Given the description of an element on the screen output the (x, y) to click on. 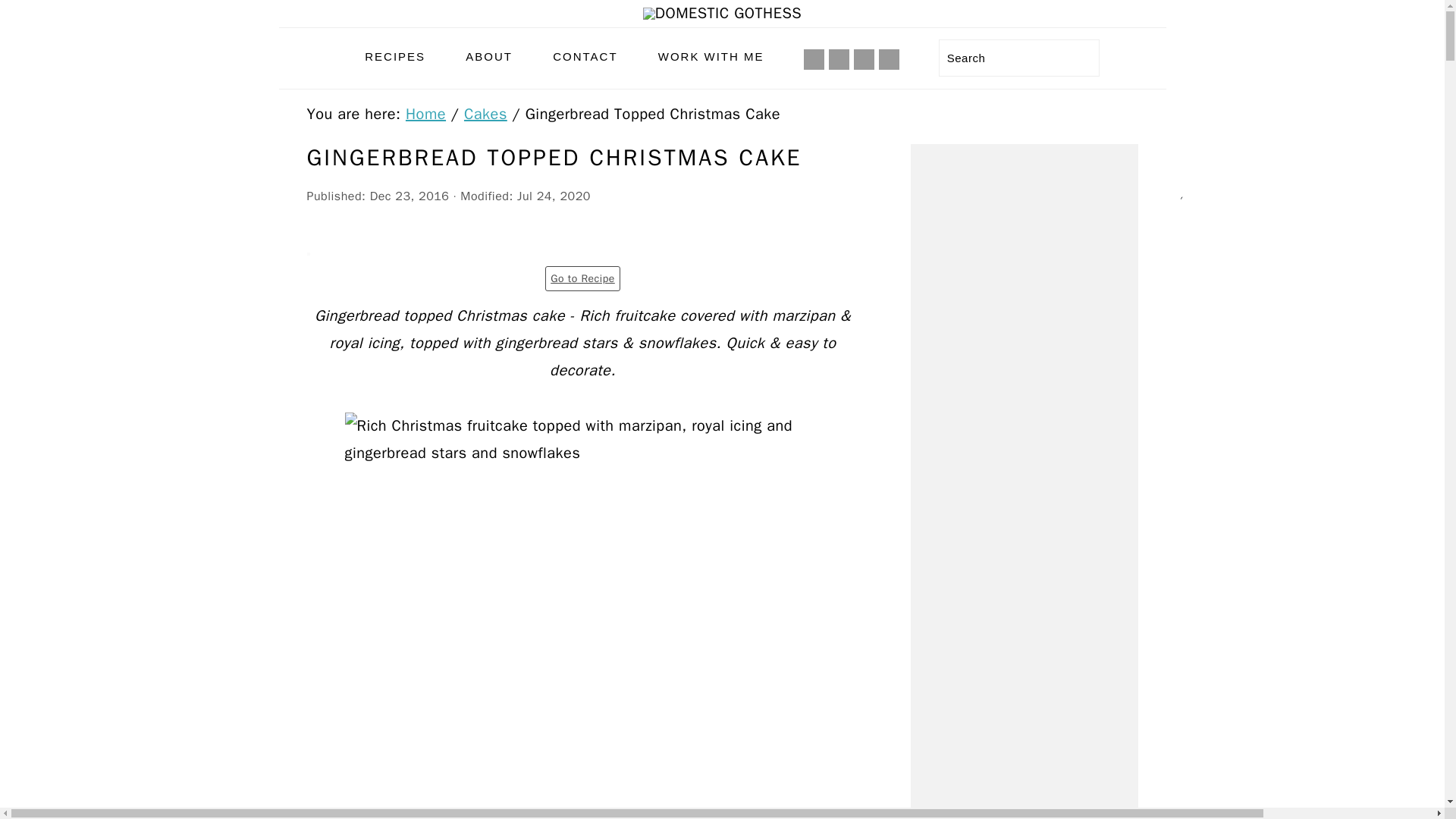
Facebook (814, 59)
Cakes (485, 113)
Twitter (888, 59)
Domestic Gothess (722, 13)
Facebook (813, 59)
Home (425, 113)
Go to Recipe (582, 278)
Go to Recipe (582, 278)
RECIPES (395, 56)
Pinterest (864, 59)
